Given the description of an element on the screen output the (x, y) to click on. 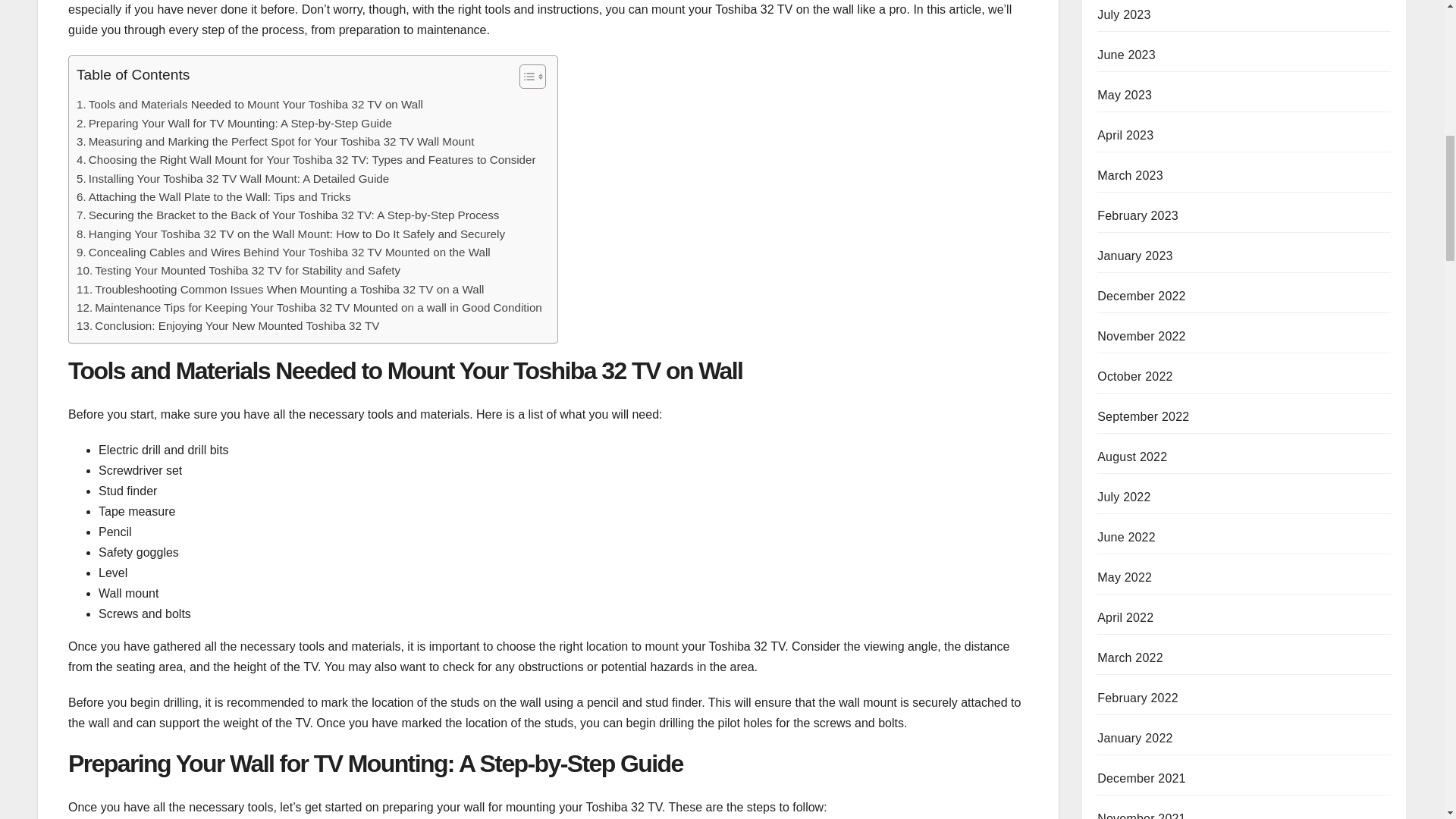
Installing Your Toshiba 32 TV Wall Mount: A Detailed Guide (232, 178)
Conclusion: Enjoying Your New Mounted Toshiba 32 TV (227, 325)
Preparing Your Wall for TV Mounting: A Step-by-Step Guide (234, 123)
